Given the description of an element on the screen output the (x, y) to click on. 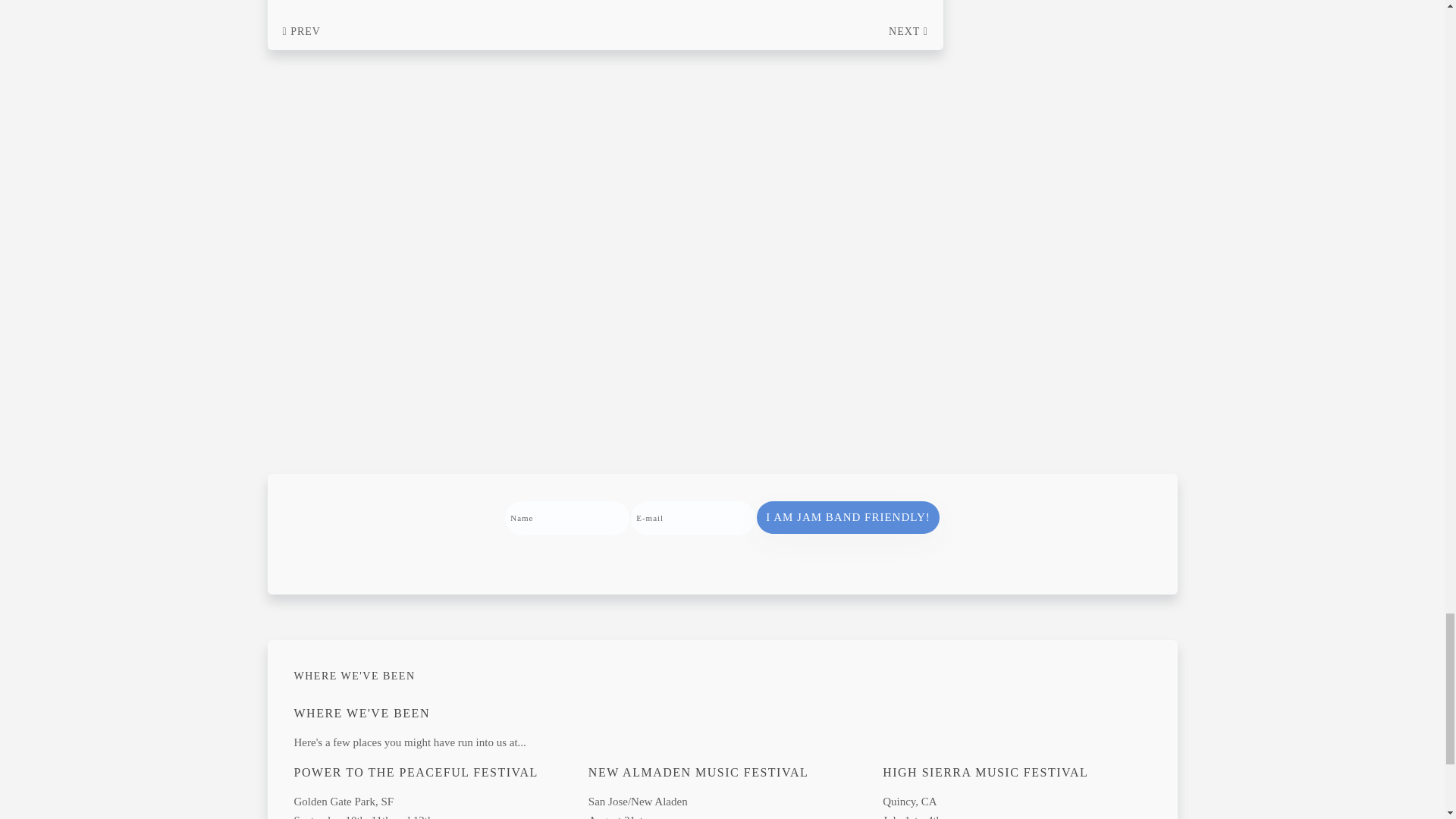
I am Jam Band Friendly! (848, 517)
PREV (301, 31)
Name (566, 518)
Name (566, 518)
E-mail (692, 518)
NEXT (908, 31)
E-mail (692, 518)
